Given the description of an element on the screen output the (x, y) to click on. 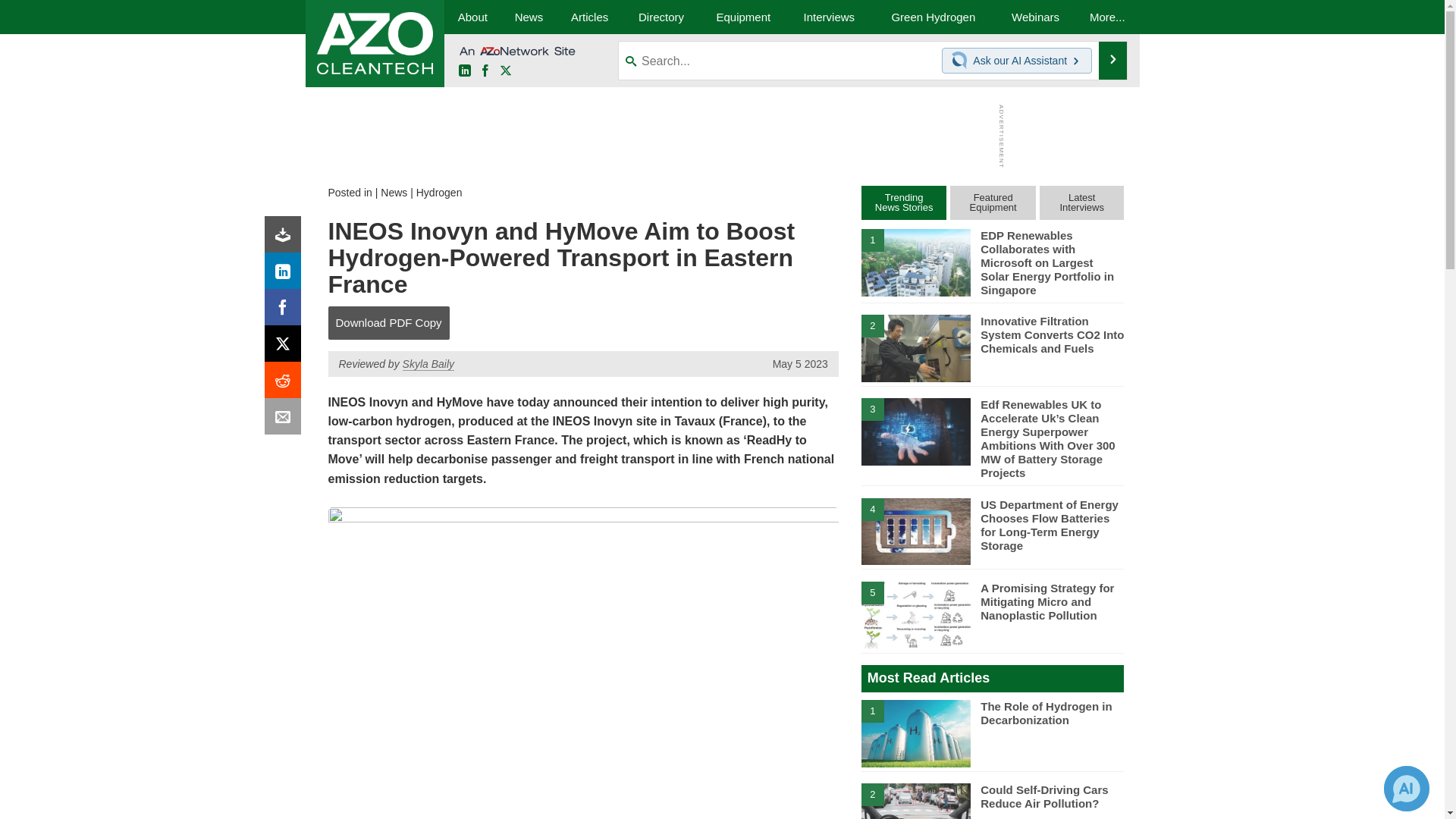
X (505, 71)
Chat with our AI Assistant Ask our AI Assistant (1017, 60)
LinkedIn (464, 71)
Download PDF copy (285, 238)
News (393, 192)
Directory (660, 17)
Articles (589, 17)
Equipment (742, 17)
Facebook (485, 71)
News (528, 17)
